Given the description of an element on the screen output the (x, y) to click on. 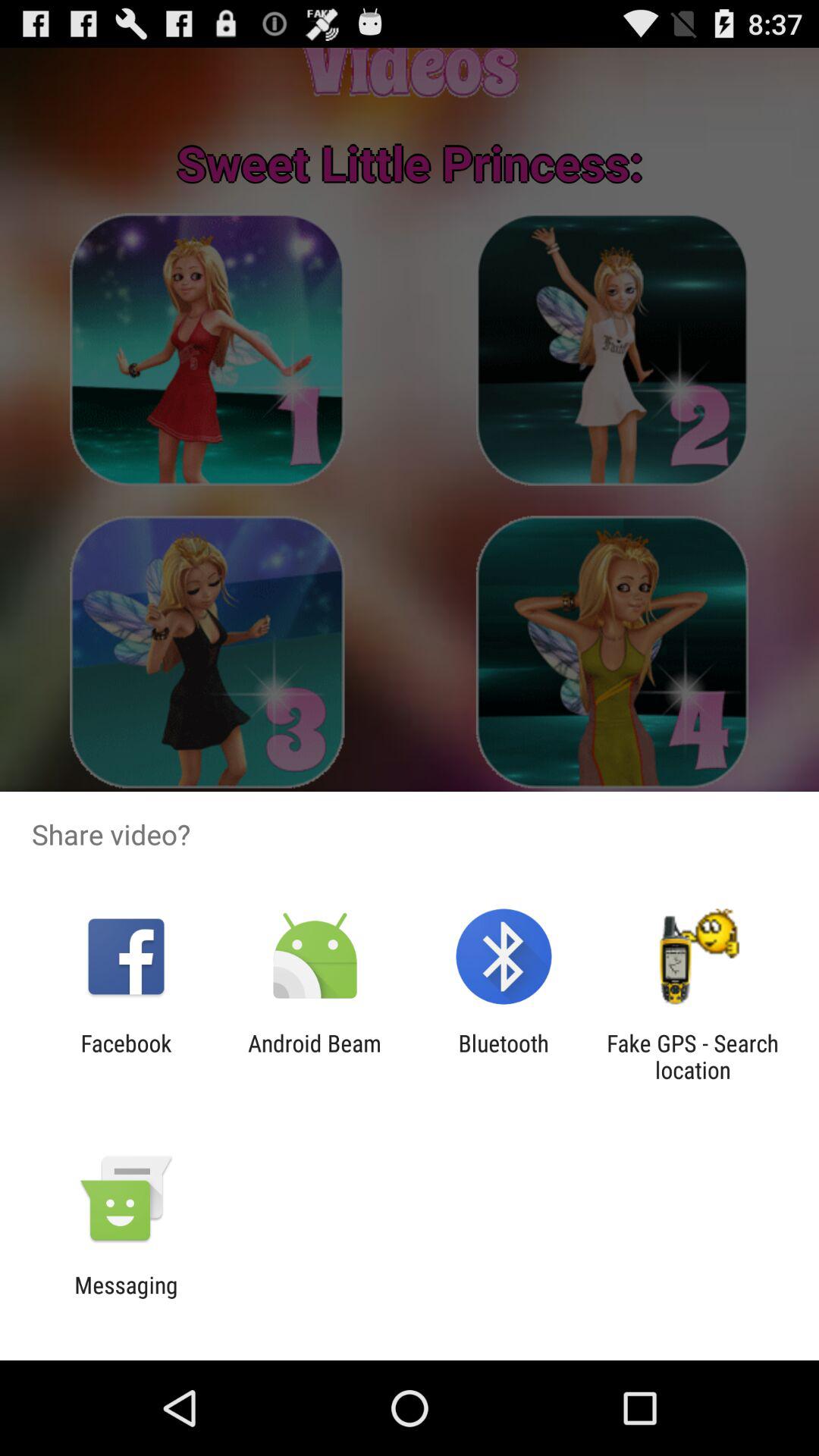
launch the app to the left of android beam app (125, 1056)
